Given the description of an element on the screen output the (x, y) to click on. 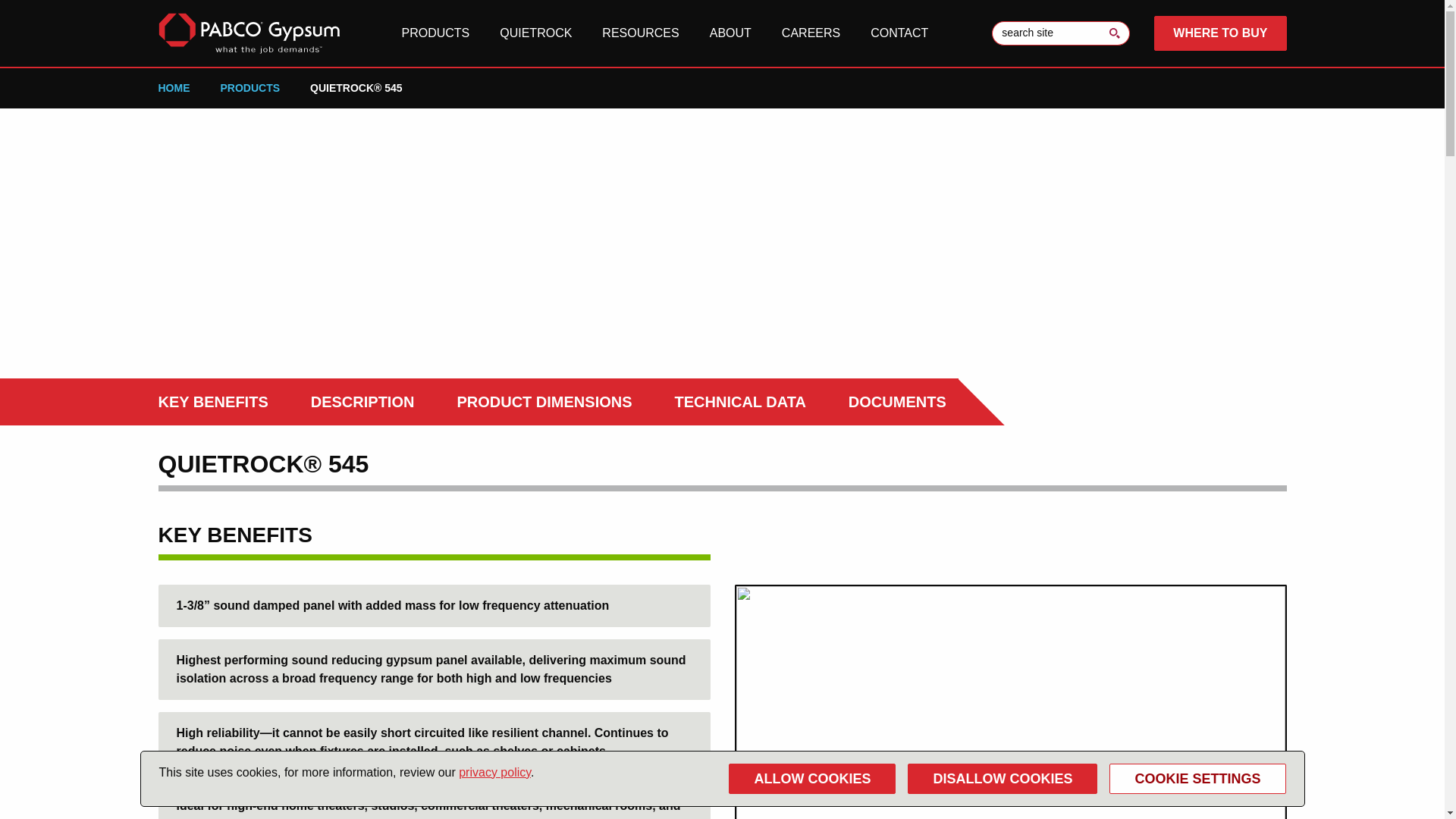
WHERE TO BUY (1219, 32)
CAREERS (811, 33)
PRODUCT DIMENSIONS (544, 401)
TECHNICAL DATA (740, 401)
DESCRIPTION (362, 401)
KEY BENEFITS (212, 401)
PRODUCTS (249, 88)
QUIETROCK (535, 33)
DOCUMENTS (897, 401)
CONTACT (899, 33)
